Given the description of an element on the screen output the (x, y) to click on. 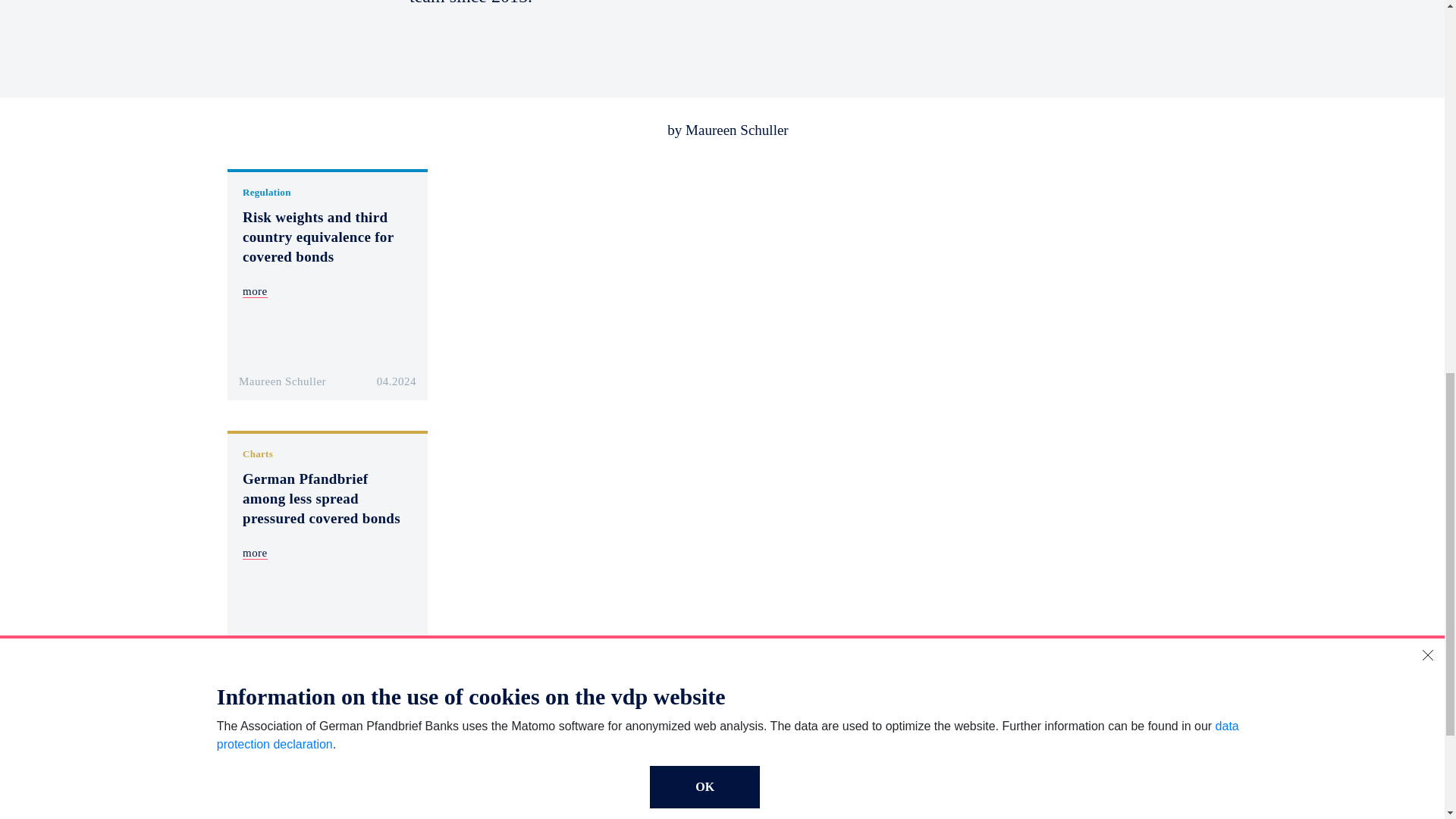
Risk weights and third country equivalence for covered bonds (318, 236)
German Pfandbrief among less spread pressured covered bonds (321, 498)
more (255, 553)
Charts (258, 453)
Regulation (267, 192)
more (255, 291)
